Given the description of an element on the screen output the (x, y) to click on. 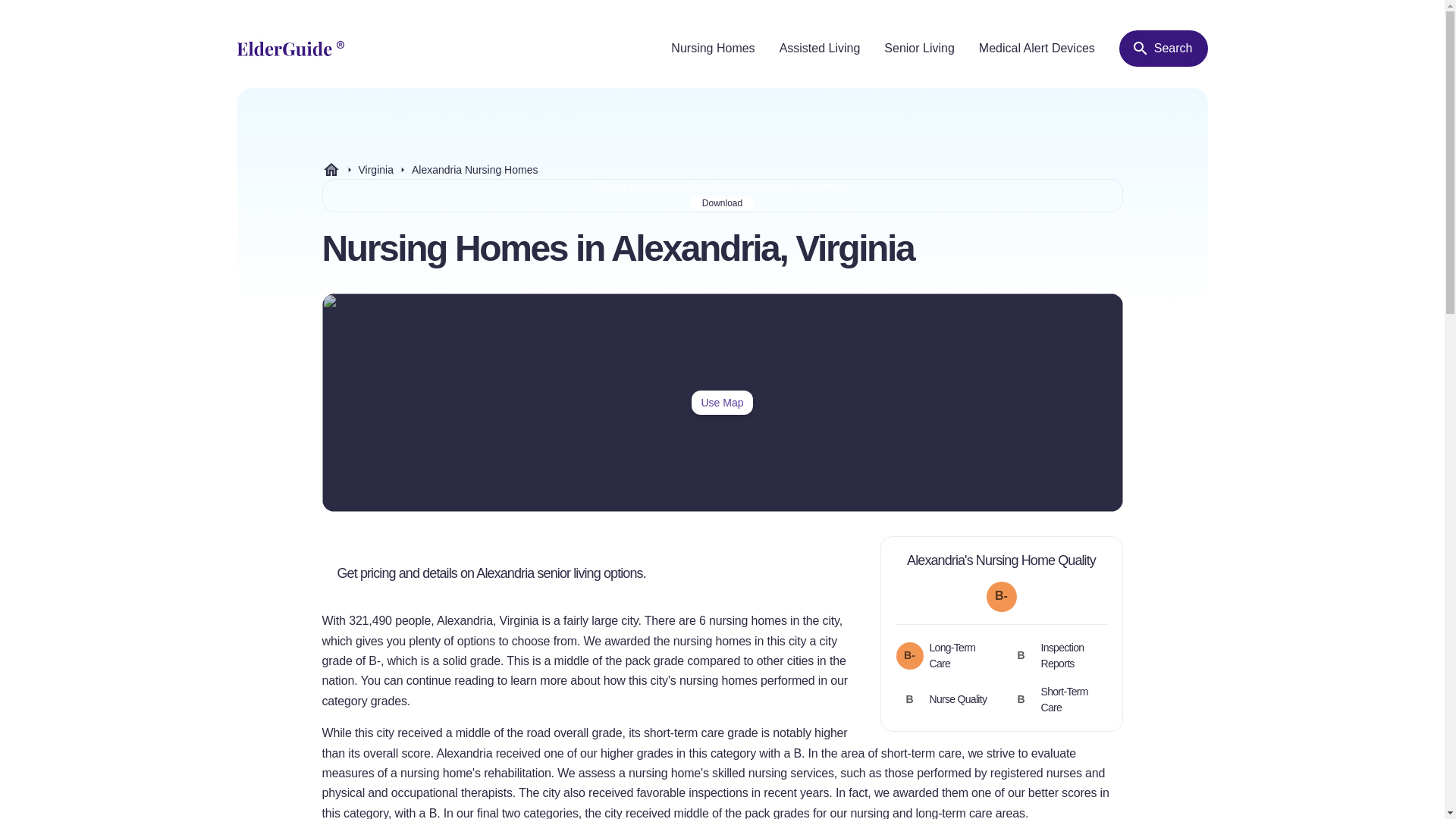
Nursing Homes (712, 47)
Use Map (721, 402)
ElderGuide.com (330, 169)
Assisted Living (819, 47)
Search (721, 169)
Virginia (1163, 48)
Get Pricing (375, 169)
Medical Alert Devices (791, 574)
Download (1036, 47)
